Given the description of an element on the screen output the (x, y) to click on. 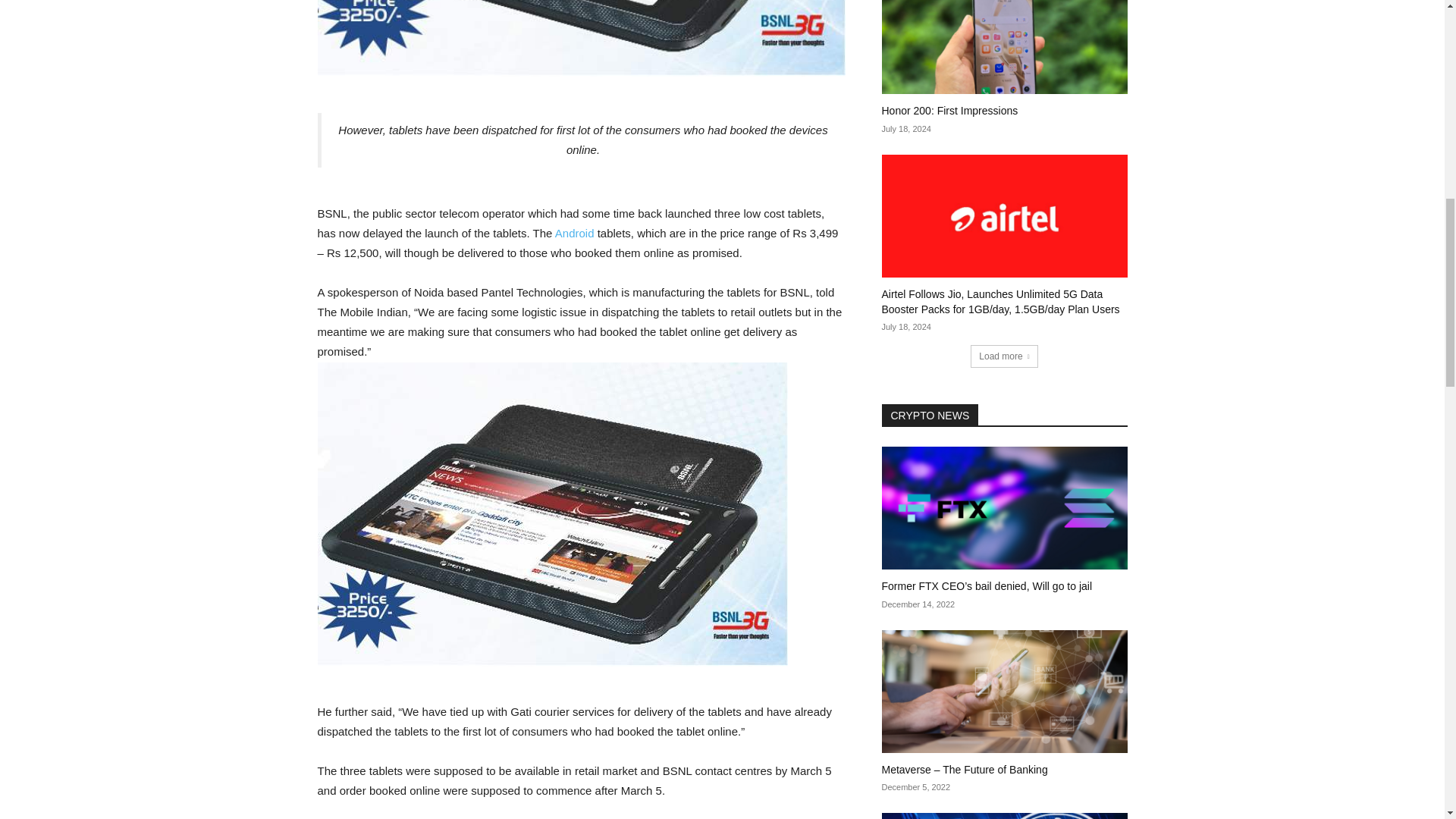
Android (574, 232)
